Given the description of an element on the screen output the (x, y) to click on. 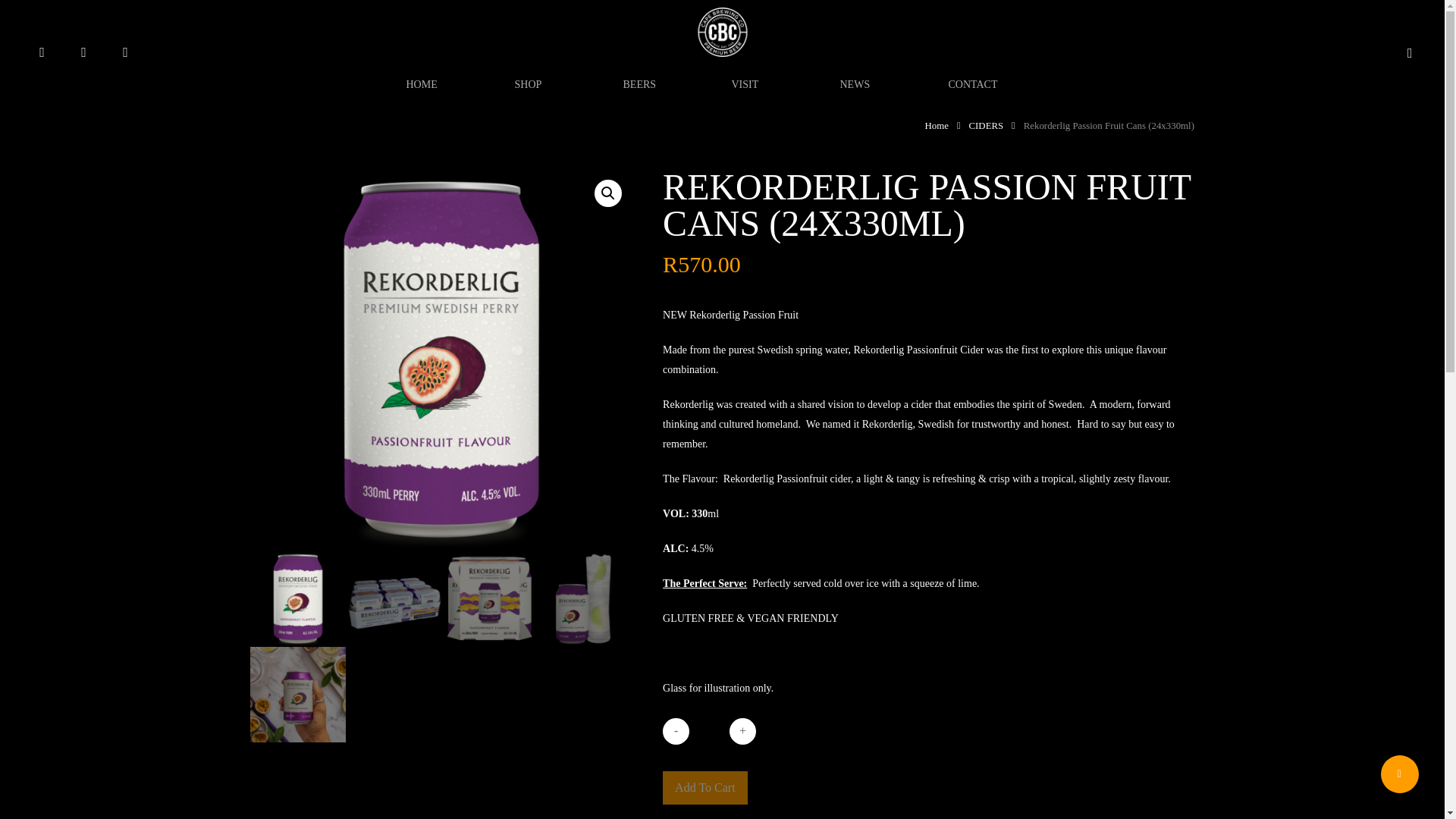
facebook (83, 53)
instagram (125, 53)
Add To Cart (704, 787)
HOME (454, 84)
Home (936, 125)
twitter (41, 53)
CIDERS (985, 125)
- (675, 730)
CONTACT (996, 84)
